Given the description of an element on the screen output the (x, y) to click on. 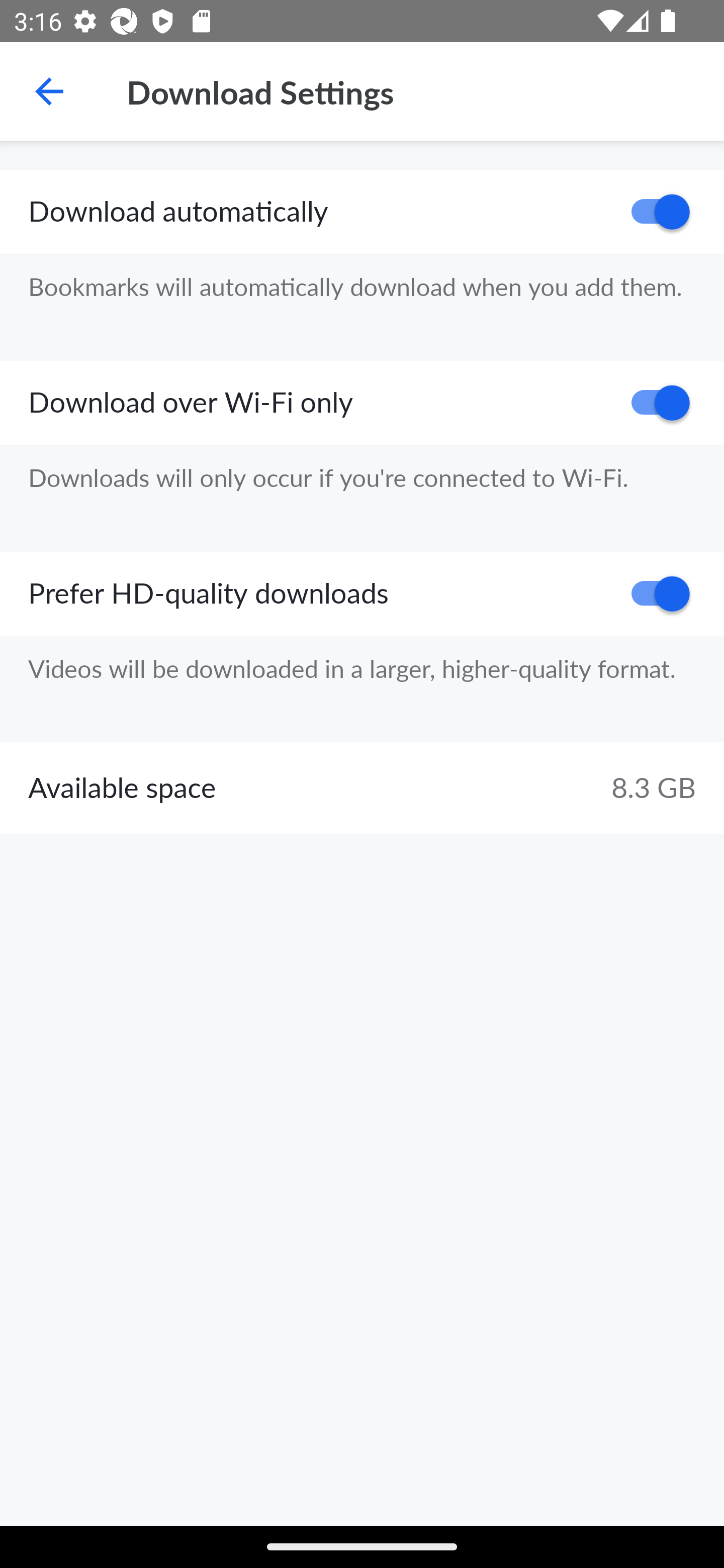
Navigate up (49, 91)
ON (653, 211)
ON (653, 402)
ON (653, 593)
